Given the description of an element on the screen output the (x, y) to click on. 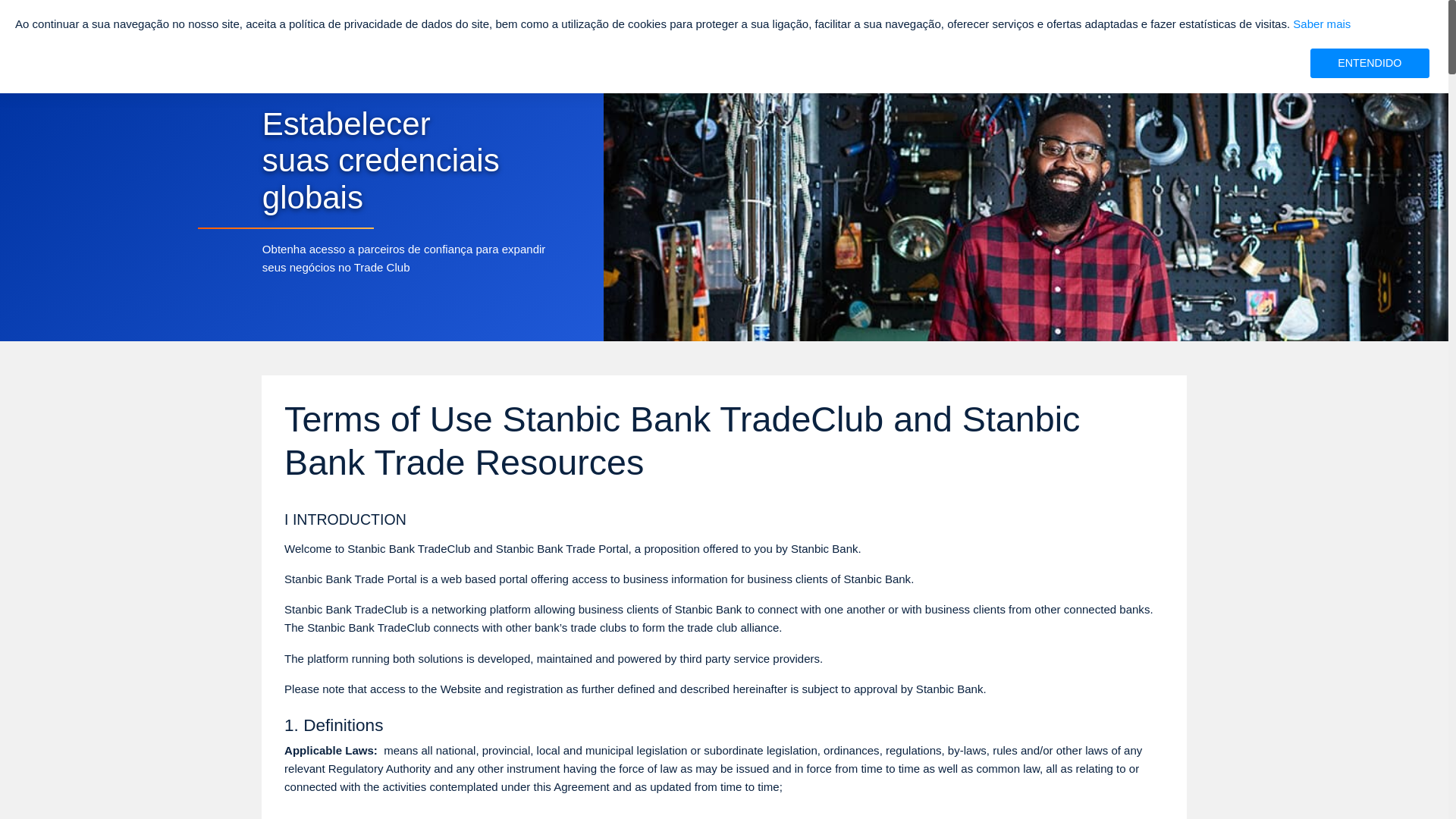
ENTENDIDO (1369, 62)
PT (1151, 43)
Recursos Comerciais (568, 31)
Saber mais (1321, 23)
Trade Club (677, 31)
Events (754, 31)
Ghana (1074, 43)
